Given the description of an element on the screen output the (x, y) to click on. 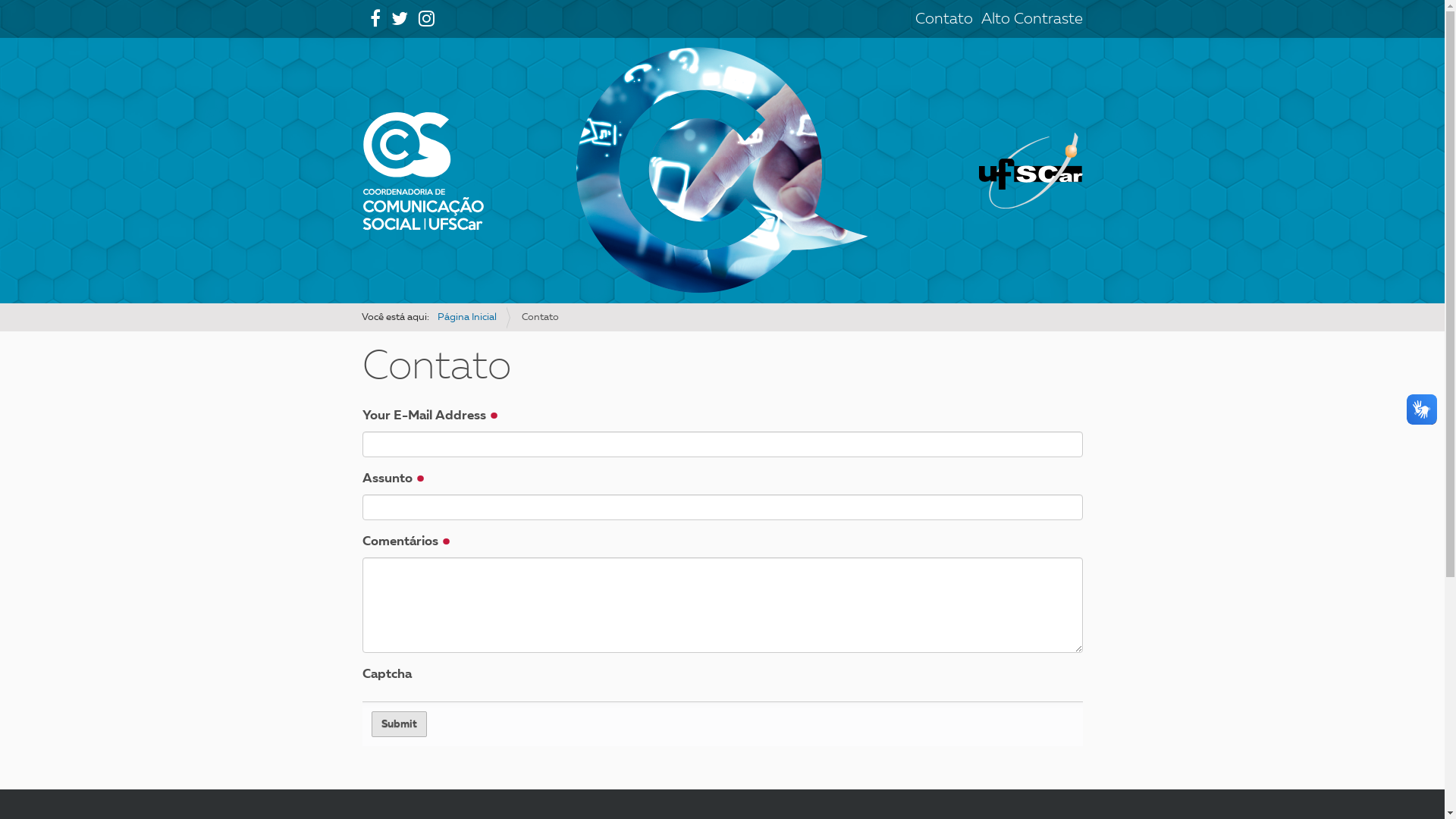
Contato Element type: text (943, 19)
Submit Element type: text (398, 724)
Portal UFSCar Element type: hover (1030, 169)
Alto Contraste Element type: text (1031, 19)
